Given the description of an element on the screen output the (x, y) to click on. 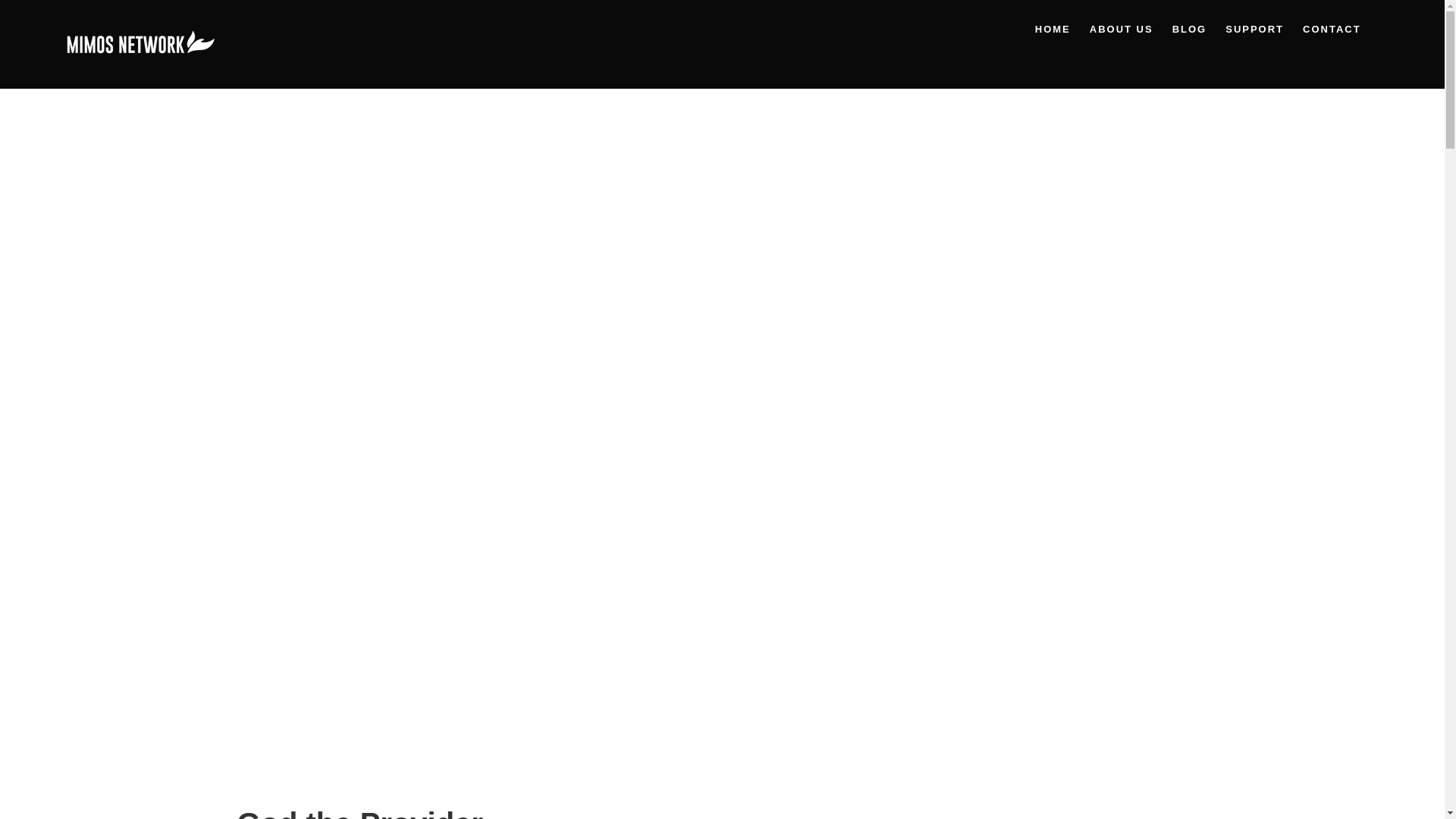
HOME Element type: text (1052, 28)
CONTACT Element type: text (1331, 28)
BLOG Element type: text (1189, 28)
View Larger Image Element type: text (721, 415)
SUPPORT Element type: text (1254, 28)
ABOUT US Element type: text (1121, 28)
